Given the description of an element on the screen output the (x, y) to click on. 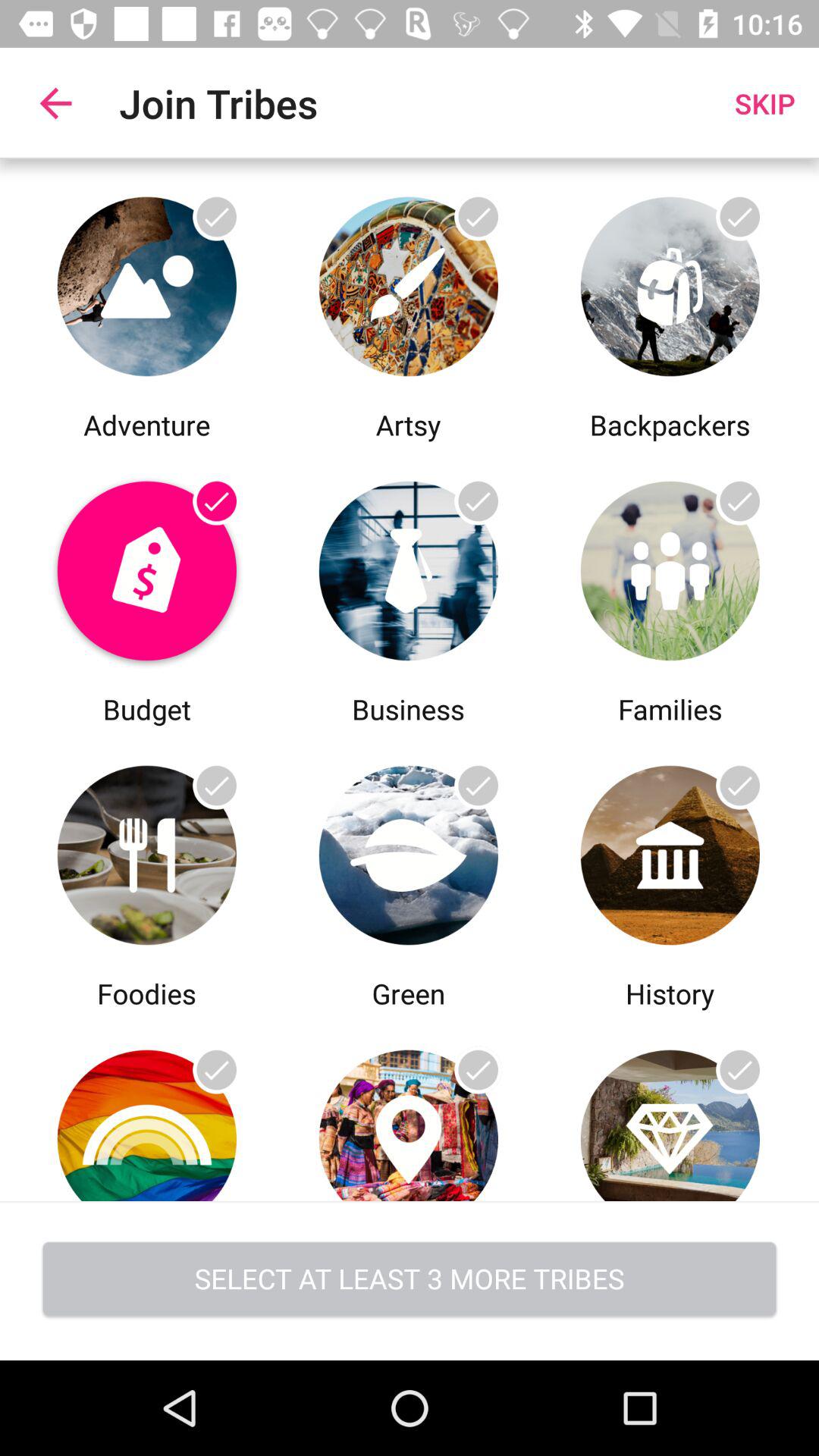
select the history tribe (669, 1106)
